Given the description of an element on the screen output the (x, y) to click on. 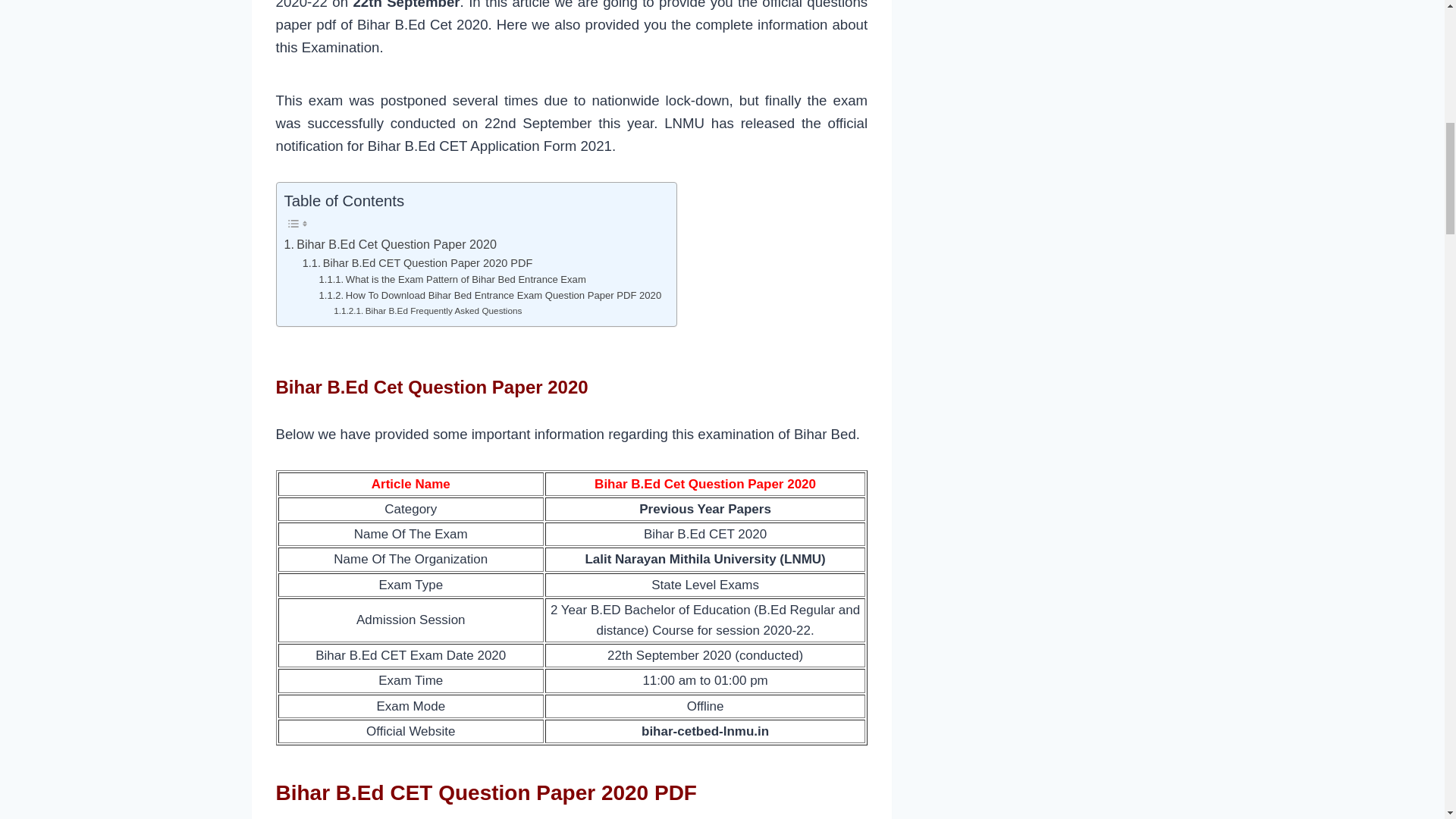
Bihar B.Ed Cet Question Paper 2020 (389, 244)
Bihar B.Ed CET Question Paper 2020 PDF (417, 262)
What is the Exam Pattern of Bihar Bed Entrance Exam (452, 279)
Bihar B.Ed Cet Question Paper 2020 (389, 244)
Bihar B.Ed Frequently Asked Questions (427, 310)
Bihar B.Ed CET Question Paper 2020 PDF (417, 262)
What is the Exam Pattern of Bihar Bed Entrance Exam (452, 279)
Bihar B.Ed Frequently Asked Questions (427, 310)
